Given the description of an element on the screen output the (x, y) to click on. 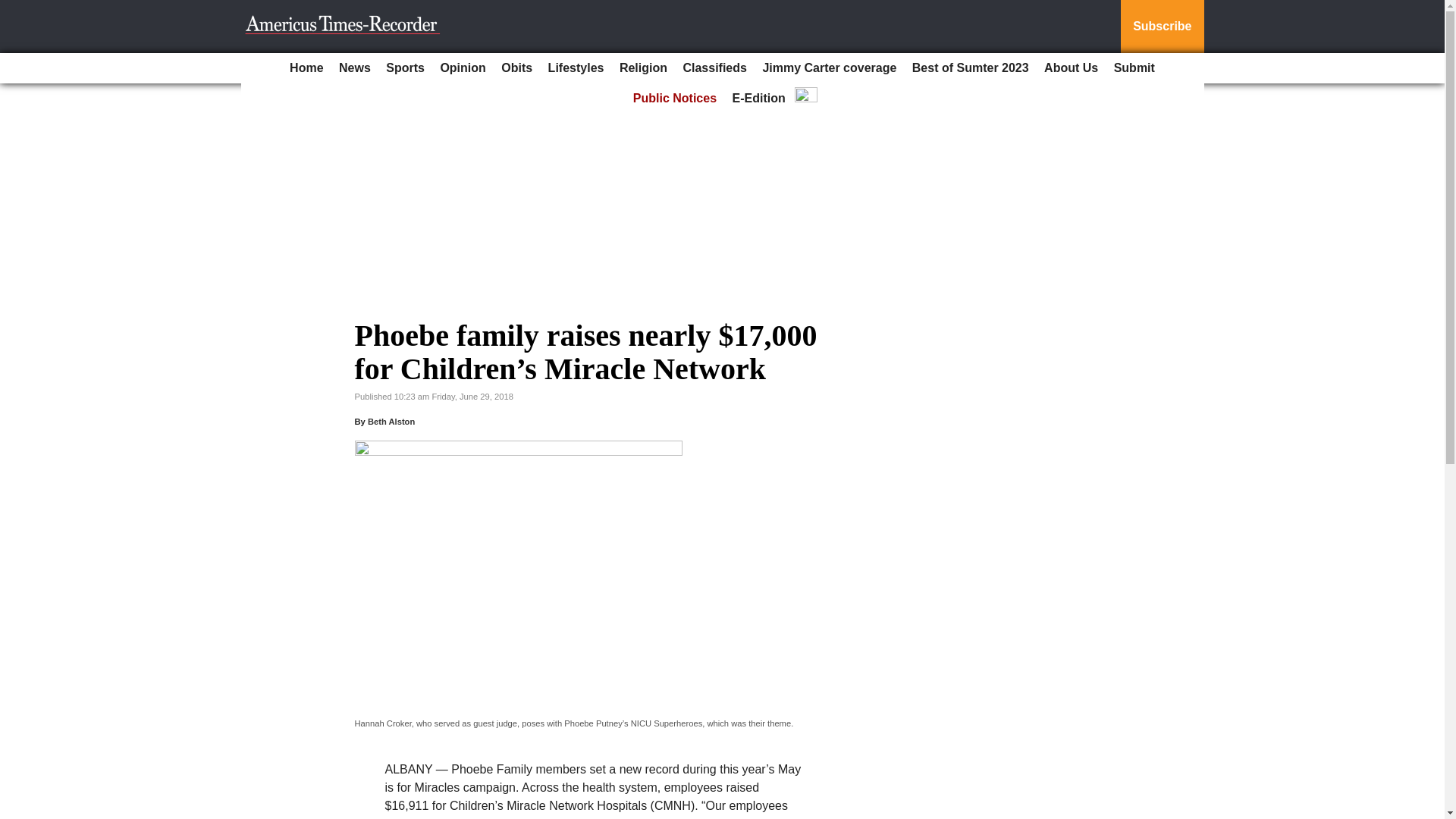
Public Notices (674, 98)
E-Edition (759, 98)
Jimmy Carter coverage (828, 68)
Classifieds (714, 68)
Religion (642, 68)
Go (13, 9)
Home (306, 68)
Best of Sumter 2023 (970, 68)
Lifestyles (575, 68)
Beth Alston (391, 420)
